Given the description of an element on the screen output the (x, y) to click on. 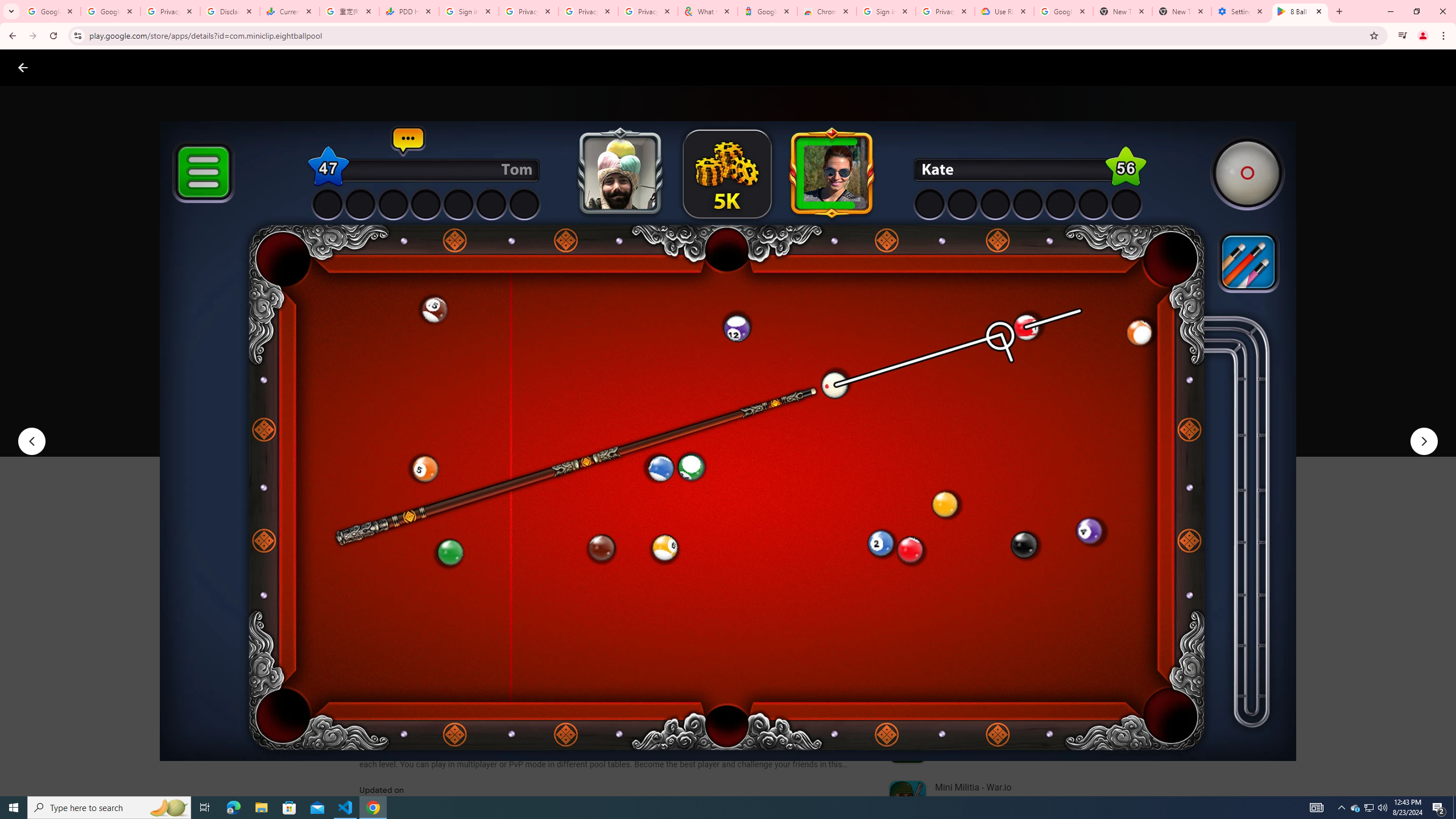
Google (767, 11)
Share (506, 422)
See more information on About this game (472, 681)
Close screenshot viewer (22, 67)
Screenshot image (817, 563)
Kids (219, 67)
Sign in - Google Accounts (885, 11)
